Given the description of an element on the screen output the (x, y) to click on. 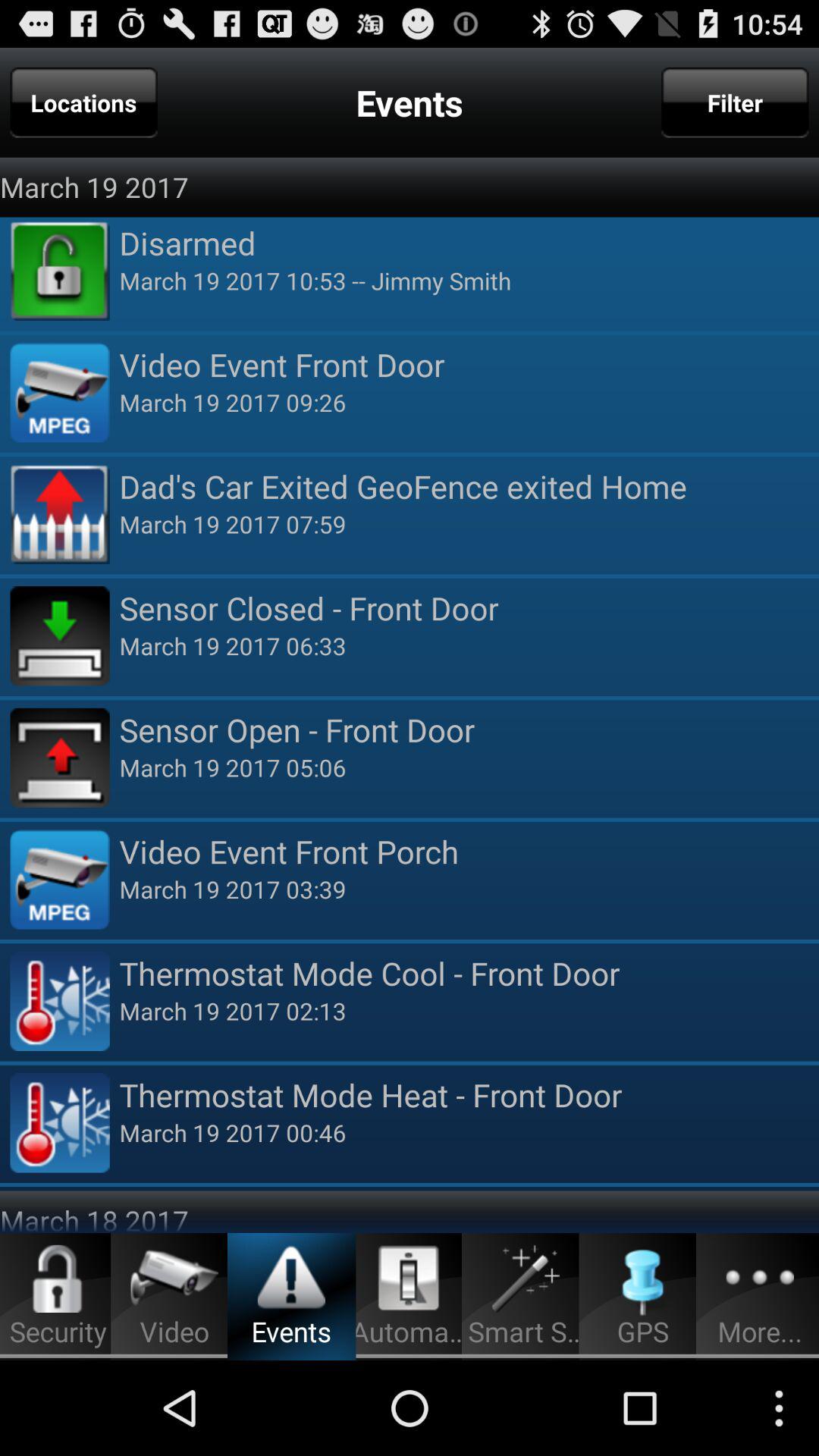
flip until the locations (83, 102)
